Given the description of an element on the screen output the (x, y) to click on. 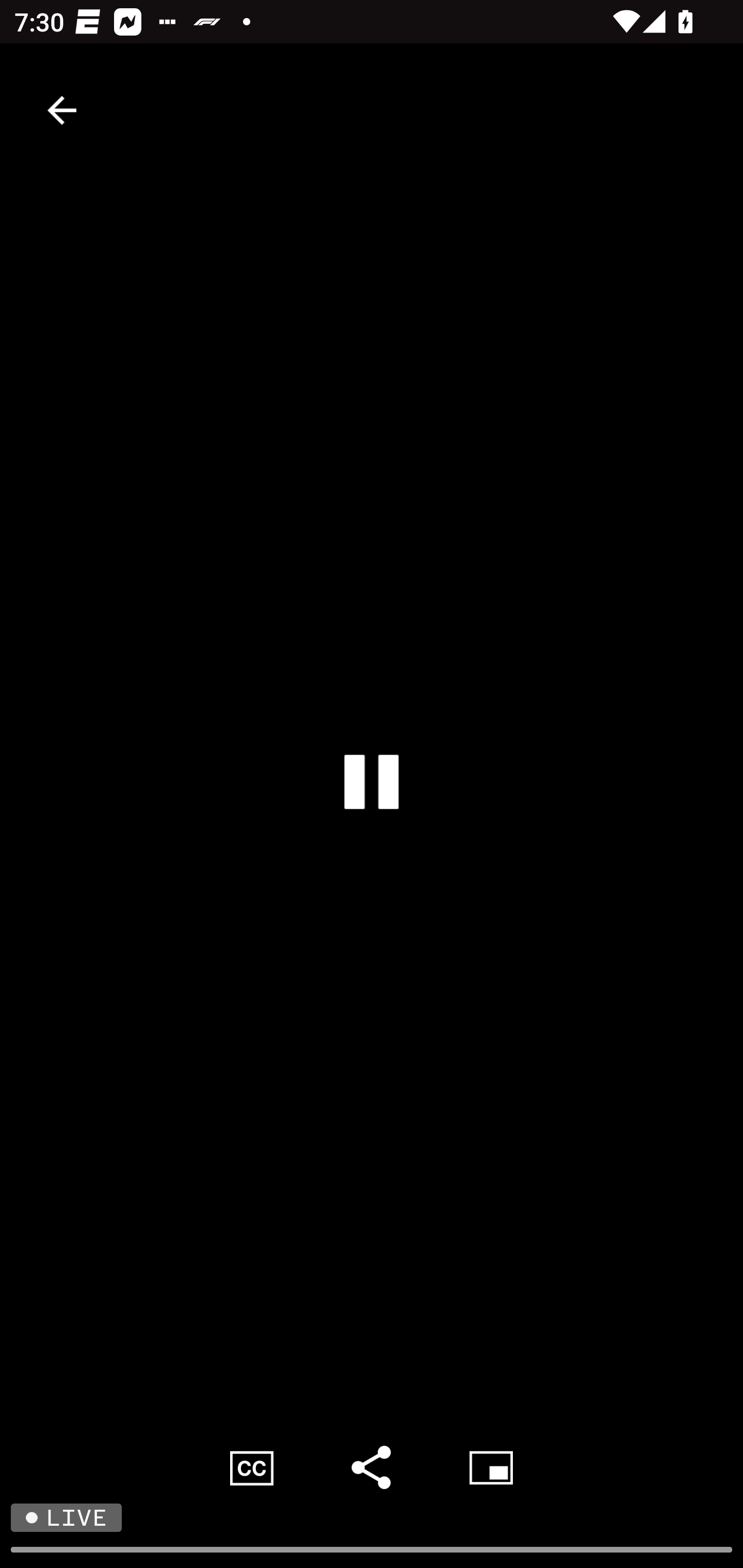
Back (61, 110)
Pause (371, 781)
Closed Captions, ON (251, 1467)
Share Media (371, 1467)
Picture in Picture Media (490, 1467)
